Given the description of an element on the screen output the (x, y) to click on. 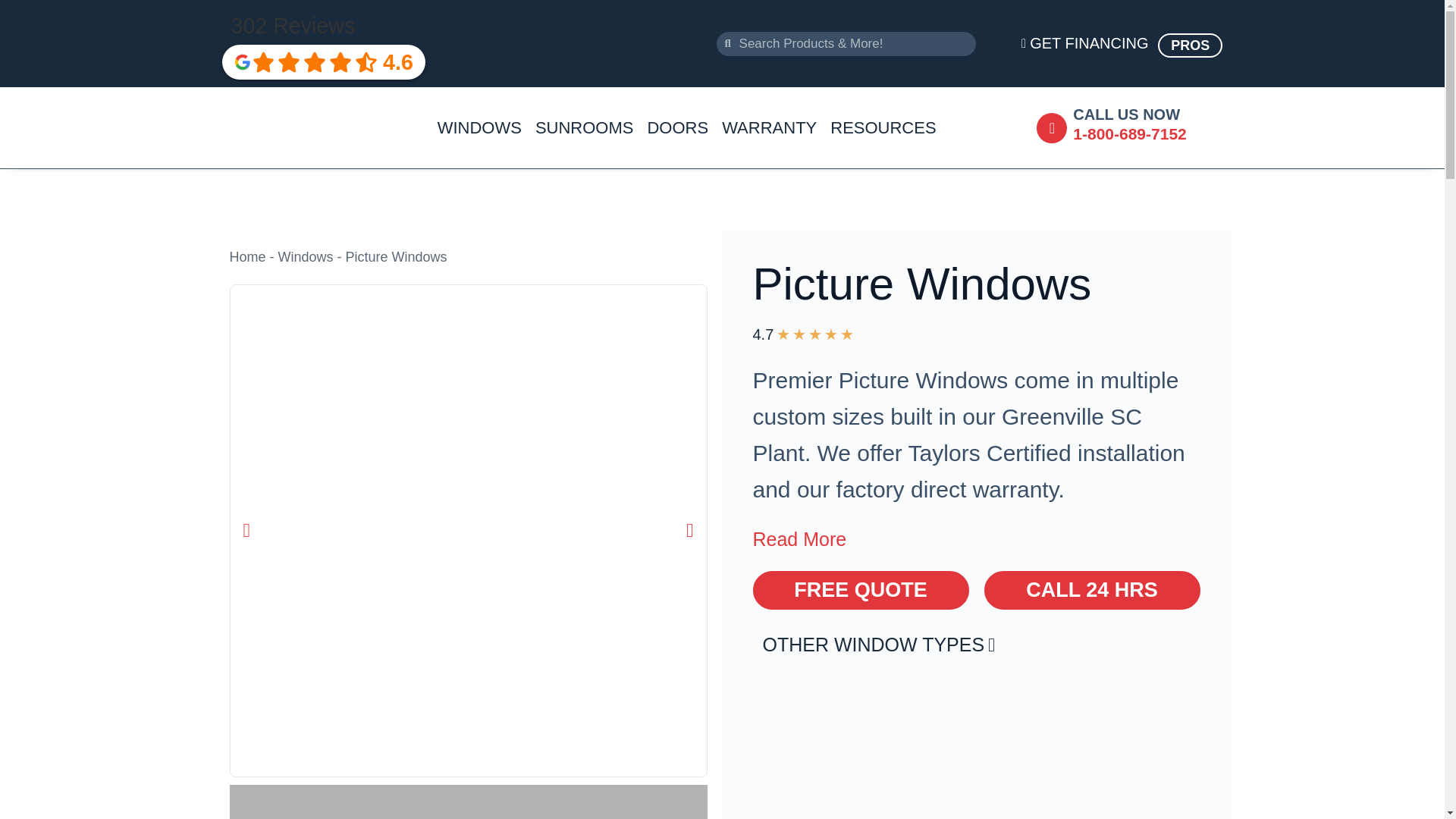
GET FINANCING (1066, 43)
SUNROOMS (584, 127)
WINDOWS (479, 127)
DOORS (677, 127)
RESOURCES (883, 127)
Skip to content (15, 7)
WARRANTY (769, 127)
PROS (1190, 45)
